Given the description of an element on the screen output the (x, y) to click on. 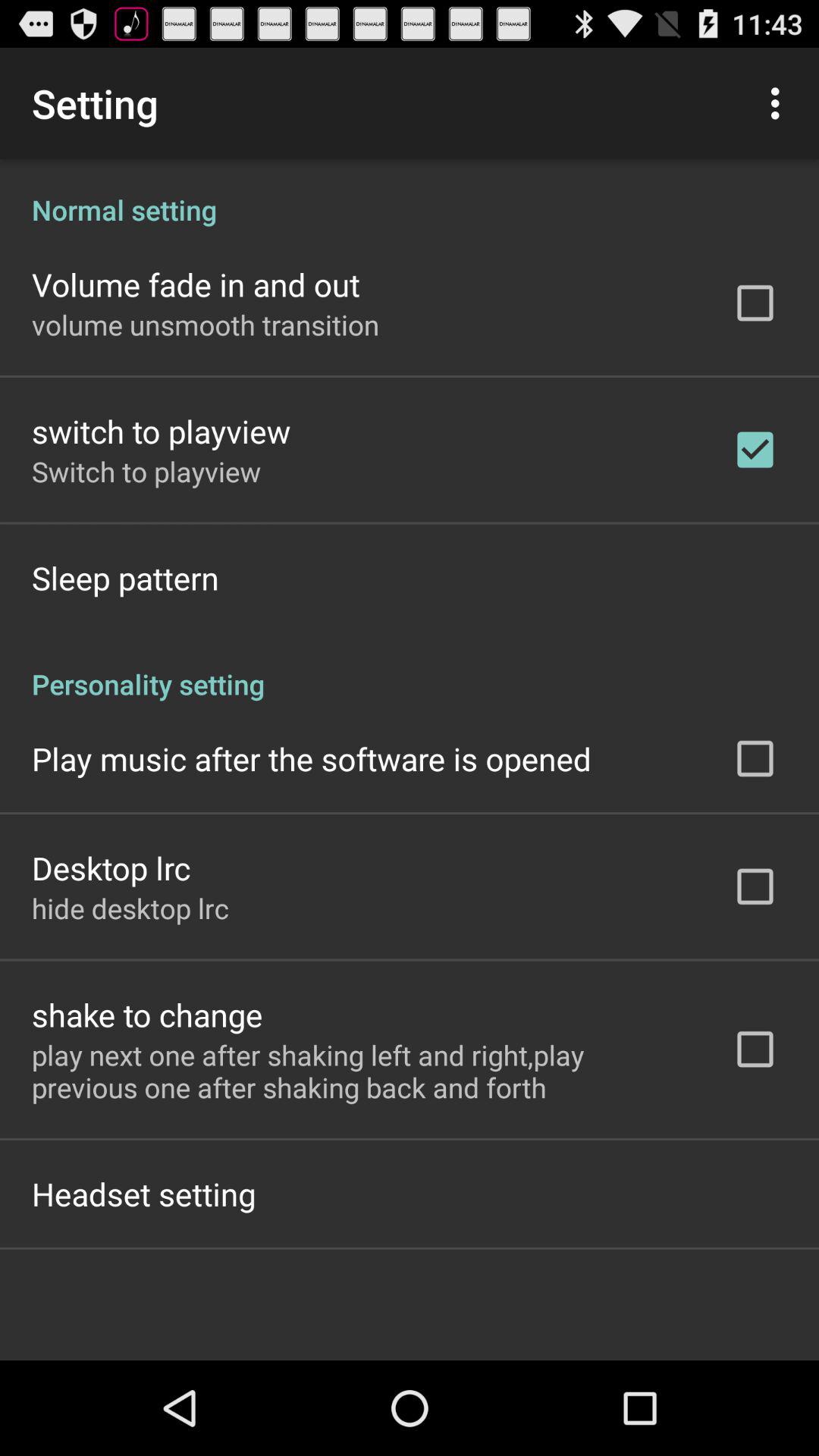
jump until play next one (361, 1071)
